Given the description of an element on the screen output the (x, y) to click on. 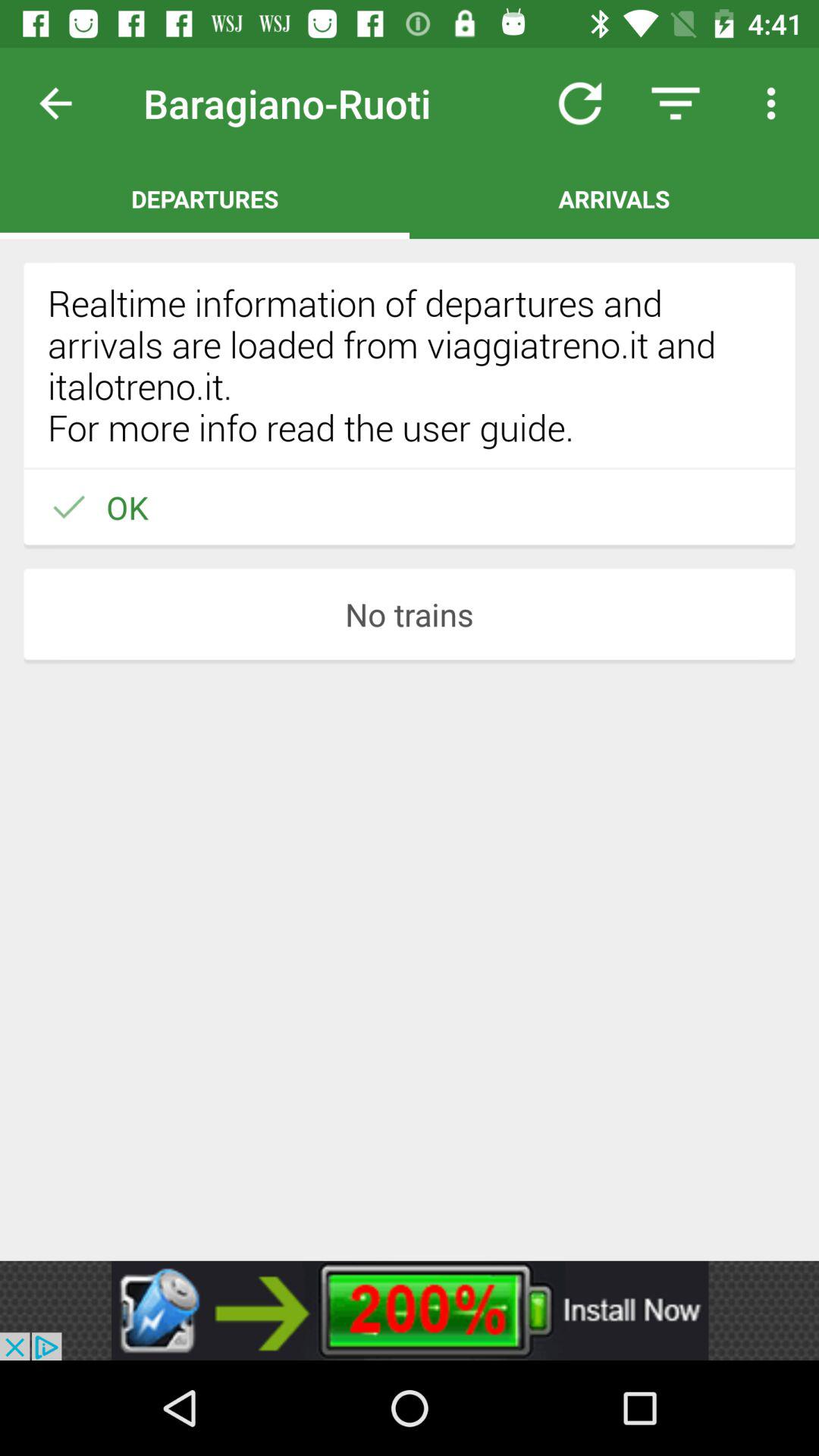
good (67, 103)
